Given the description of an element on the screen output the (x, y) to click on. 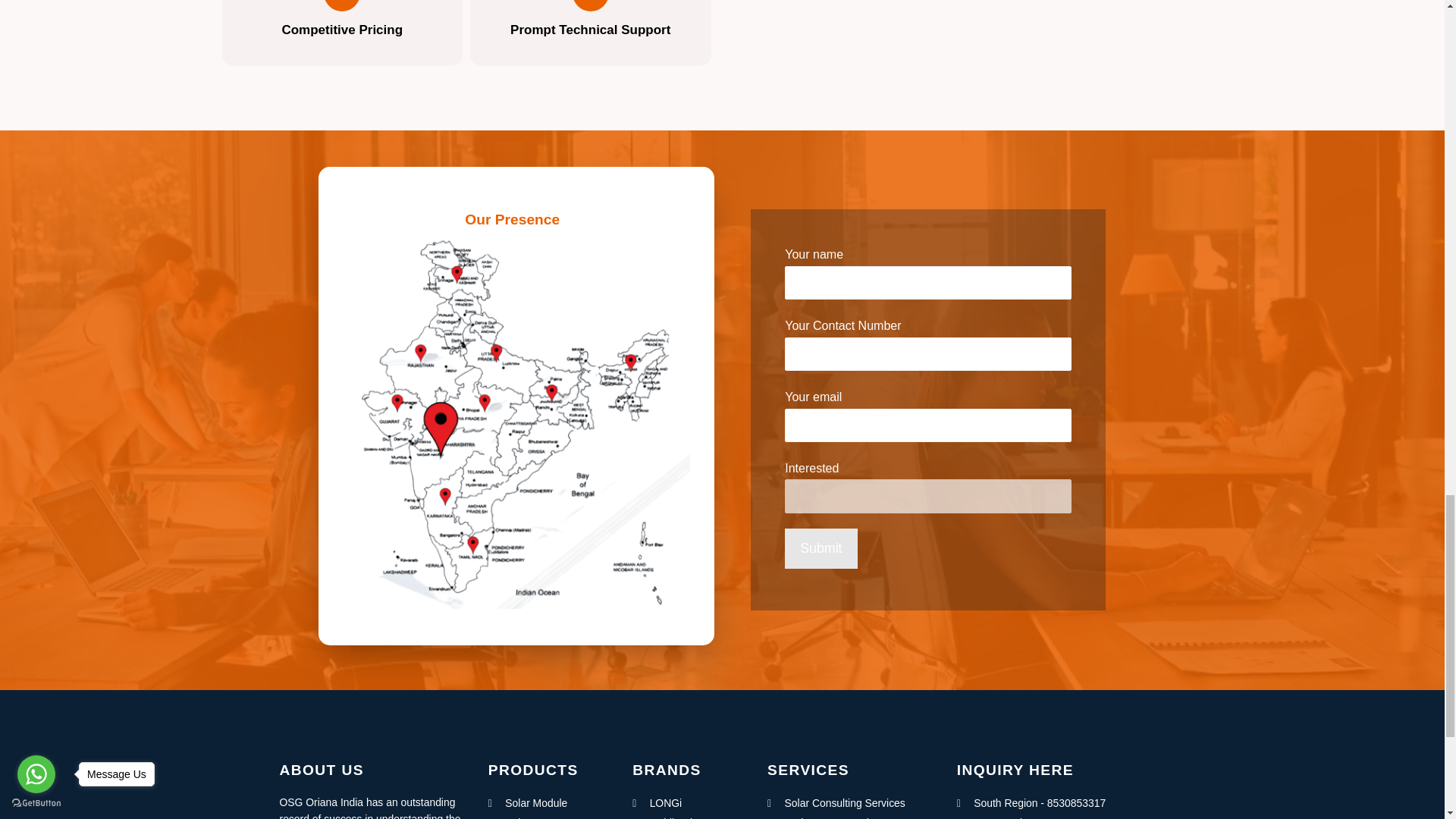
LONGi (686, 803)
Goldi Solar (686, 816)
Submit (820, 548)
Solar Module (547, 803)
Submit (820, 548)
Solar Inverter (547, 816)
